Given the description of an element on the screen output the (x, y) to click on. 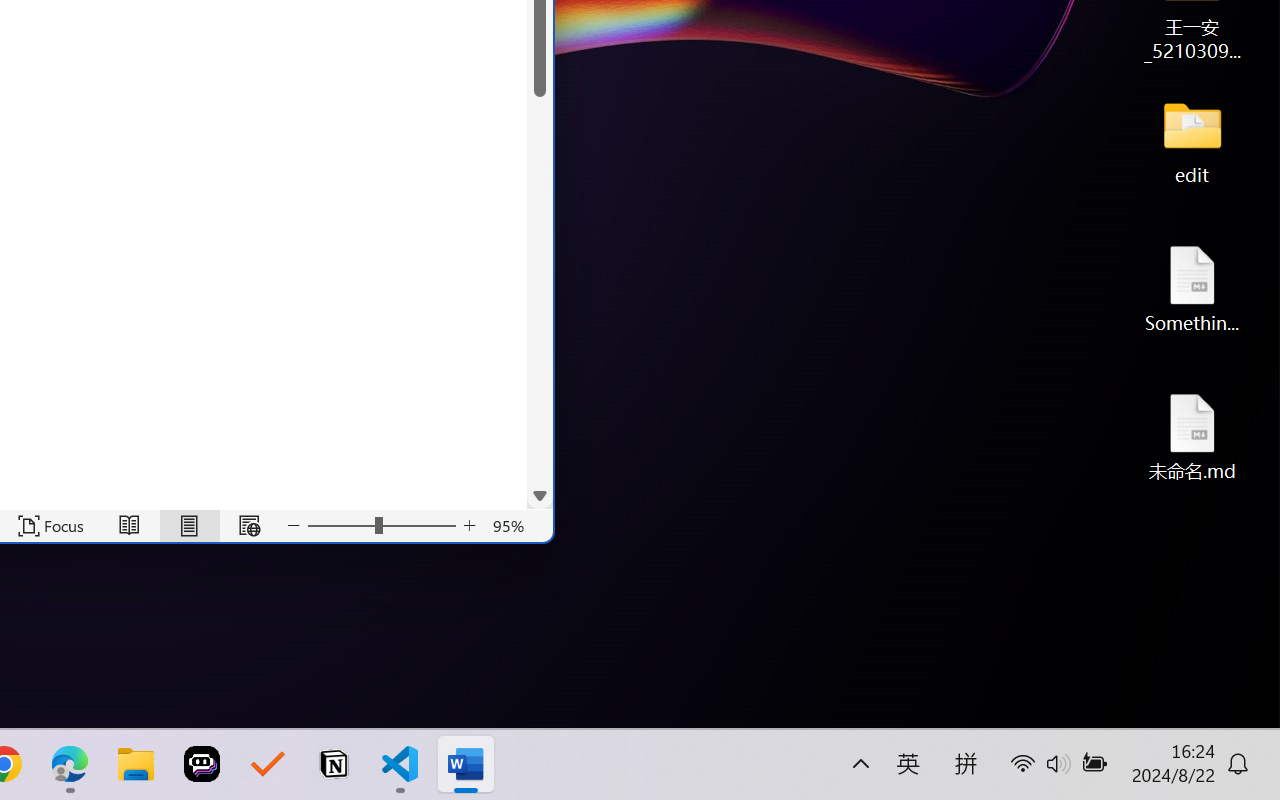
Column right (513, 495)
Line down (539, 469)
Notion (333, 764)
